Given the description of an element on the screen output the (x, y) to click on. 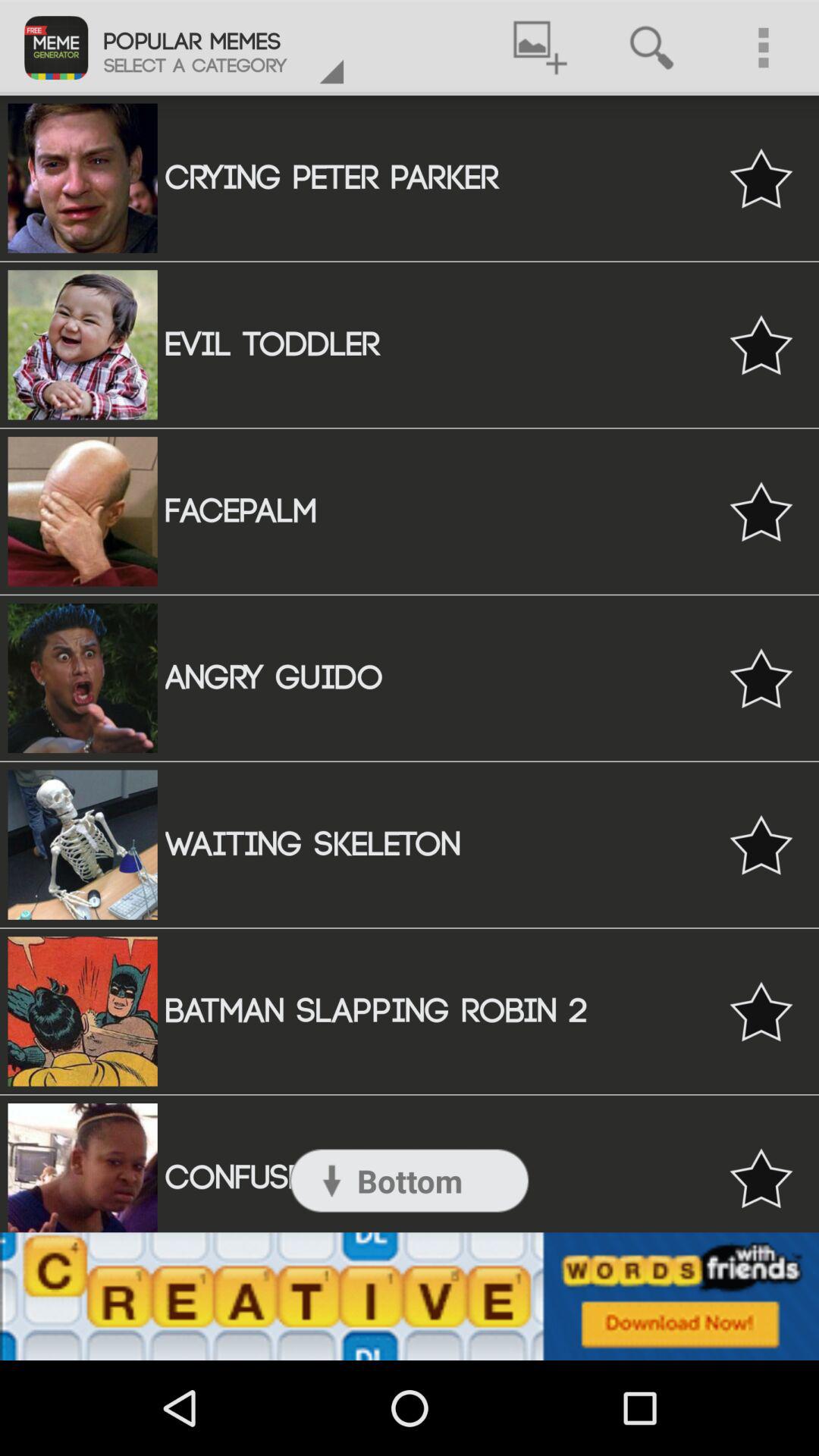
toggle bookmark (761, 178)
